Given the description of an element on the screen output the (x, y) to click on. 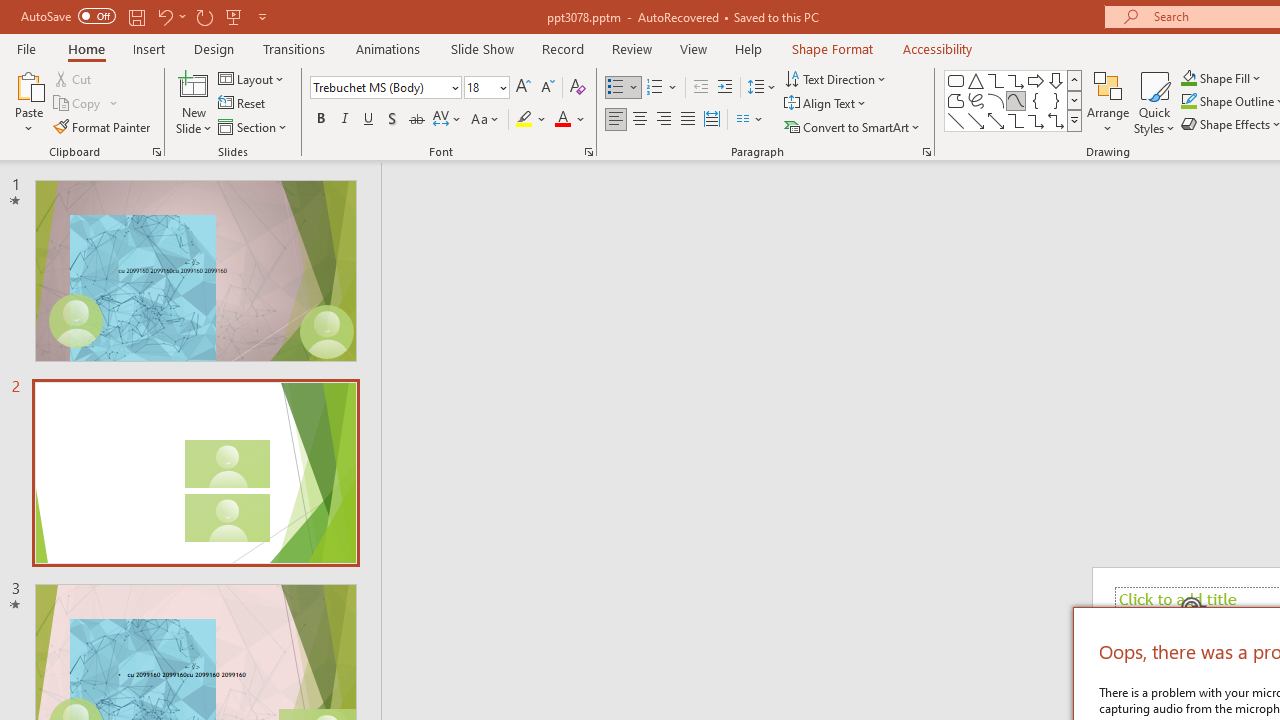
Line Arrow: Double (995, 120)
